Given the description of an element on the screen output the (x, y) to click on. 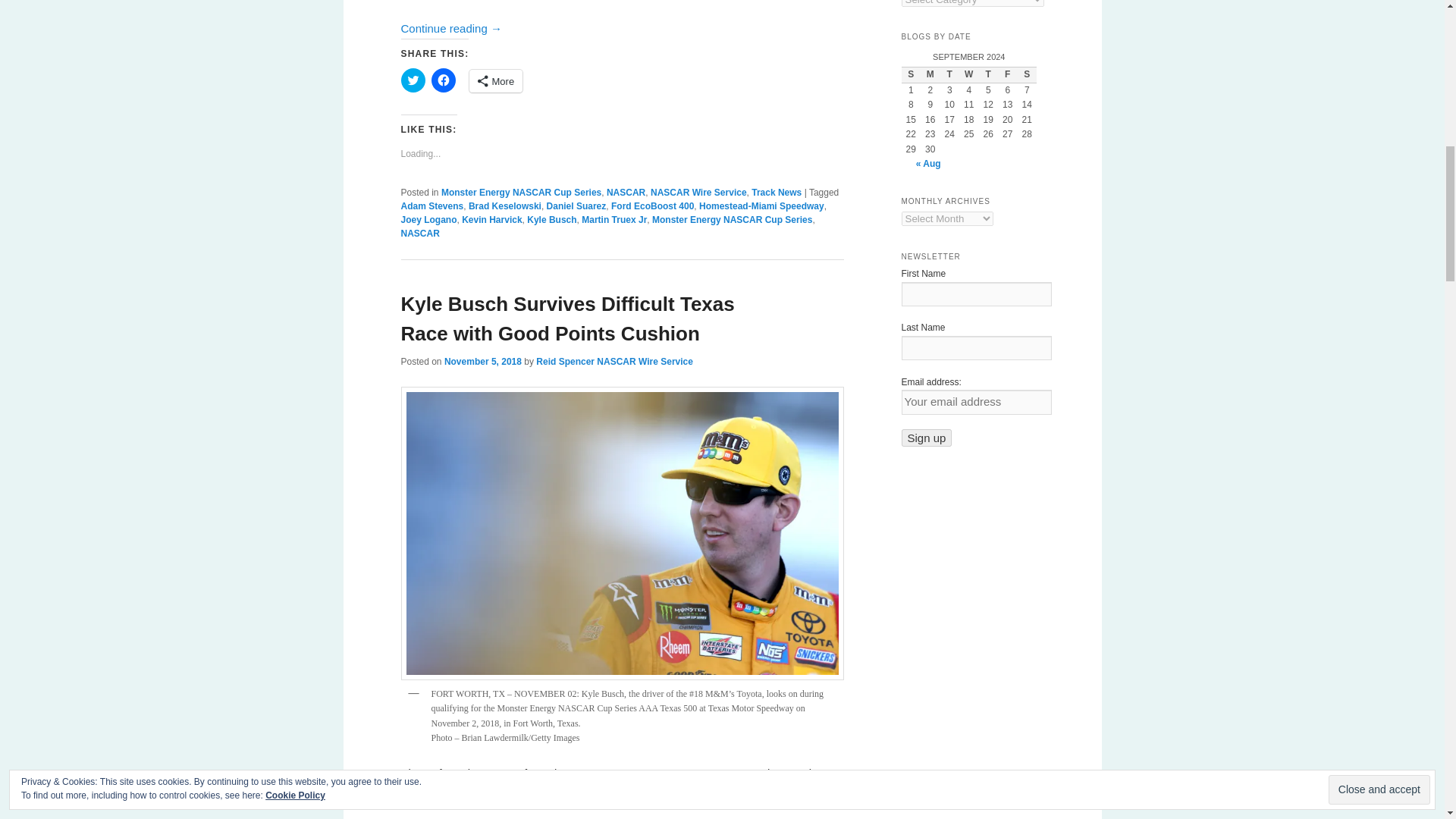
NASCAR Wire Service (698, 192)
Track News (776, 192)
Adam Stevens (431, 205)
Daniel Suarez (577, 205)
Brad Keselowski (504, 205)
Monster Energy NASCAR Cup Series (521, 192)
Click to share on Twitter (412, 79)
NASCAR (626, 192)
More (495, 80)
Sign up (926, 437)
